Given the description of an element on the screen output the (x, y) to click on. 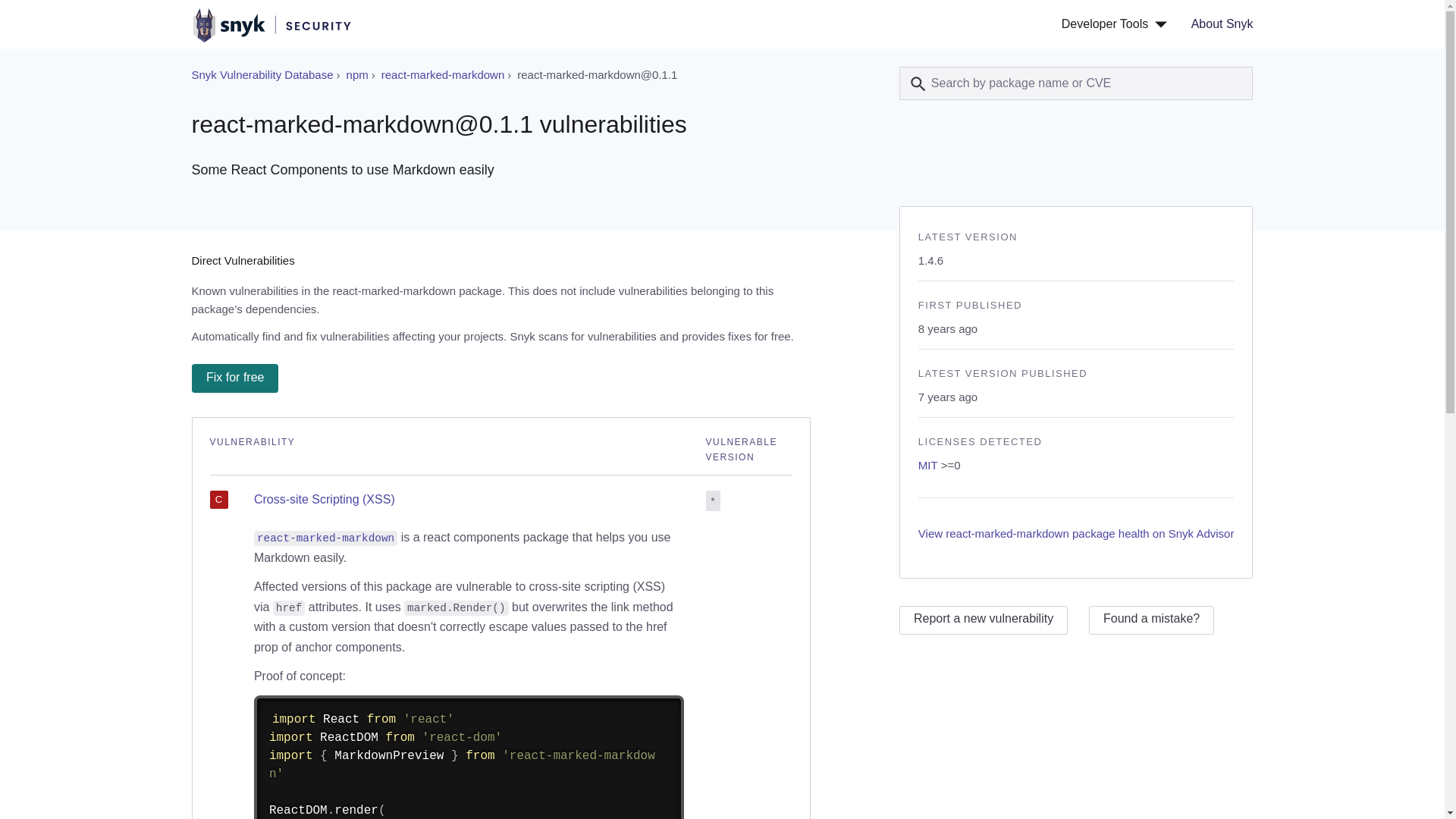
MIT (927, 464)
About Snyk (1216, 24)
Snyk Vulnerability Database (261, 74)
Report a new vulnerability (983, 620)
react-marked-markdown (325, 536)
react-marked-markdown (443, 74)
Found a mistake? (1151, 620)
npm (357, 74)
Fix for free (234, 378)
